Given the description of an element on the screen output the (x, y) to click on. 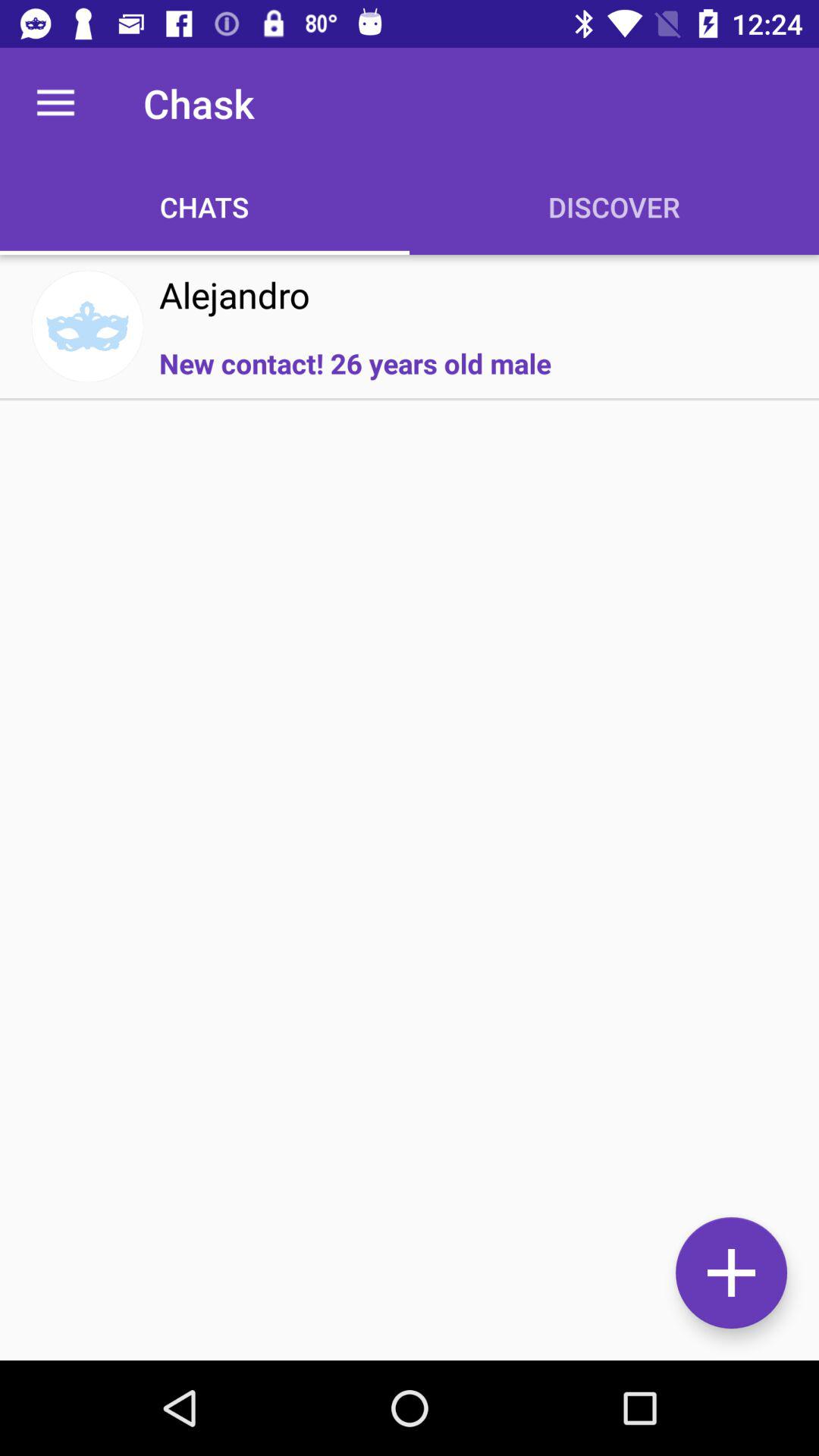
tap the alejandro item (234, 294)
